Given the description of an element on the screen output the (x, y) to click on. 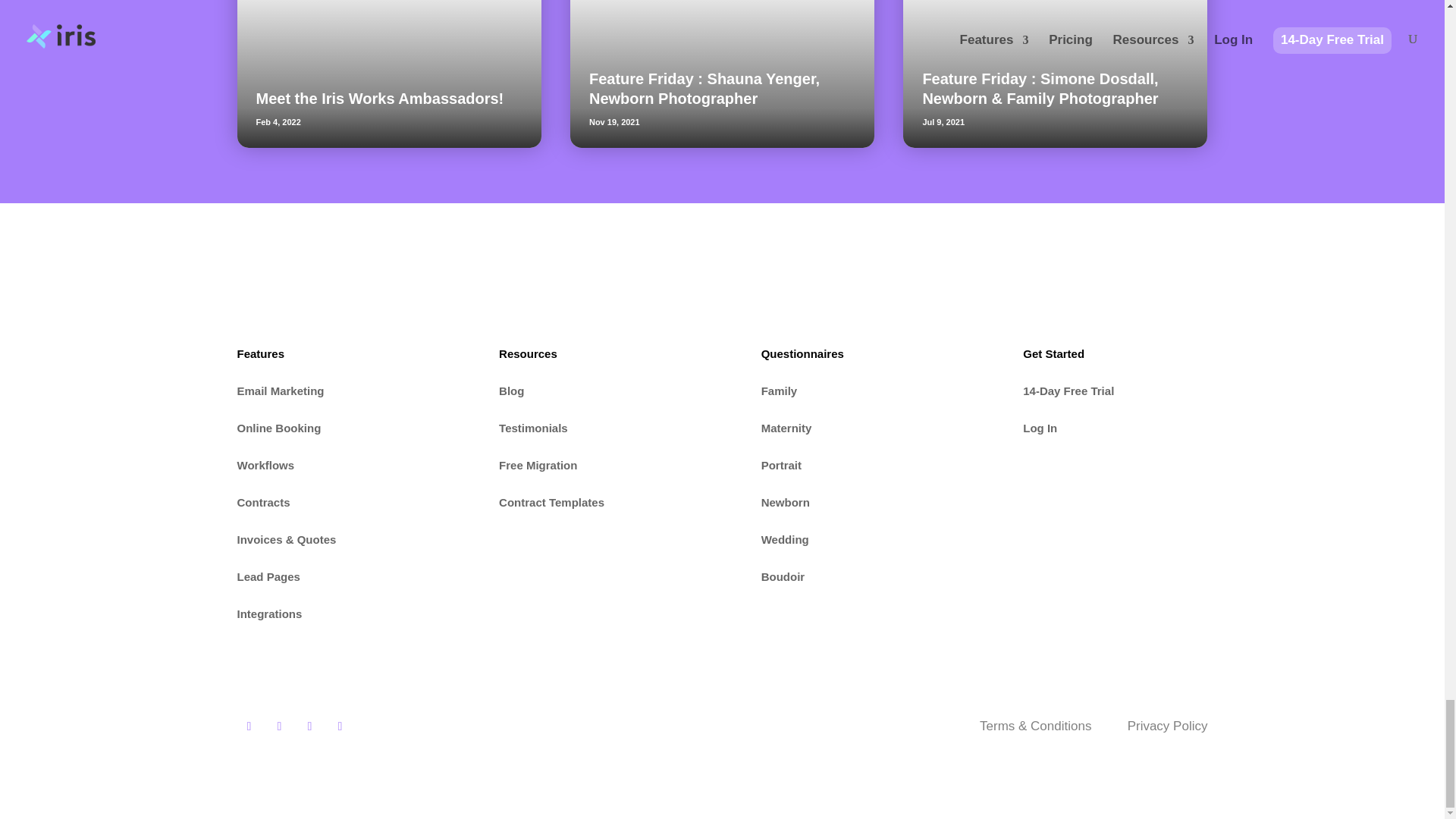
Iris Works Photography Studio Management Logo (258, 284)
Follow on Instagram (278, 726)
Follow on Facebook (247, 726)
Follow on Pinterest (339, 726)
Follow on Twitter (309, 726)
